Given the description of an element on the screen output the (x, y) to click on. 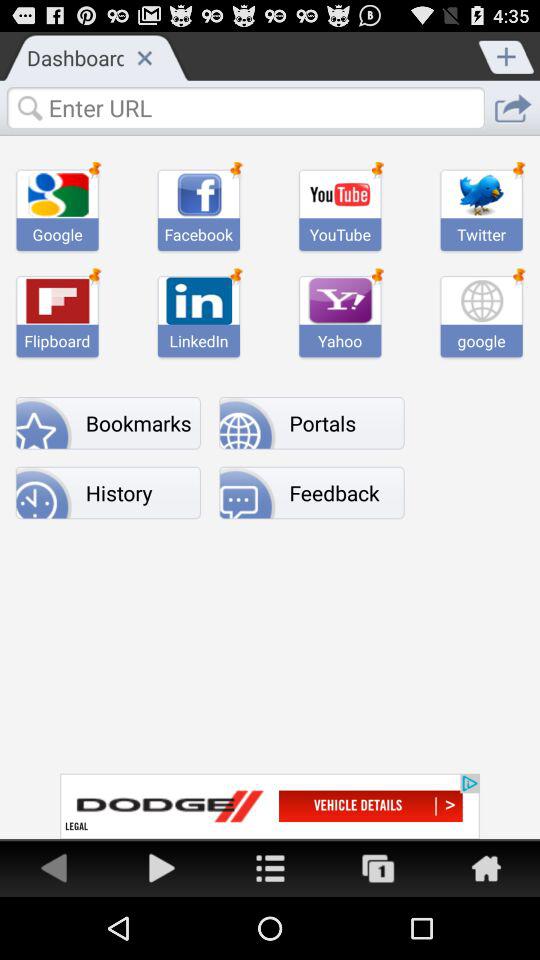
menu option (270, 867)
